Given the description of an element on the screen output the (x, y) to click on. 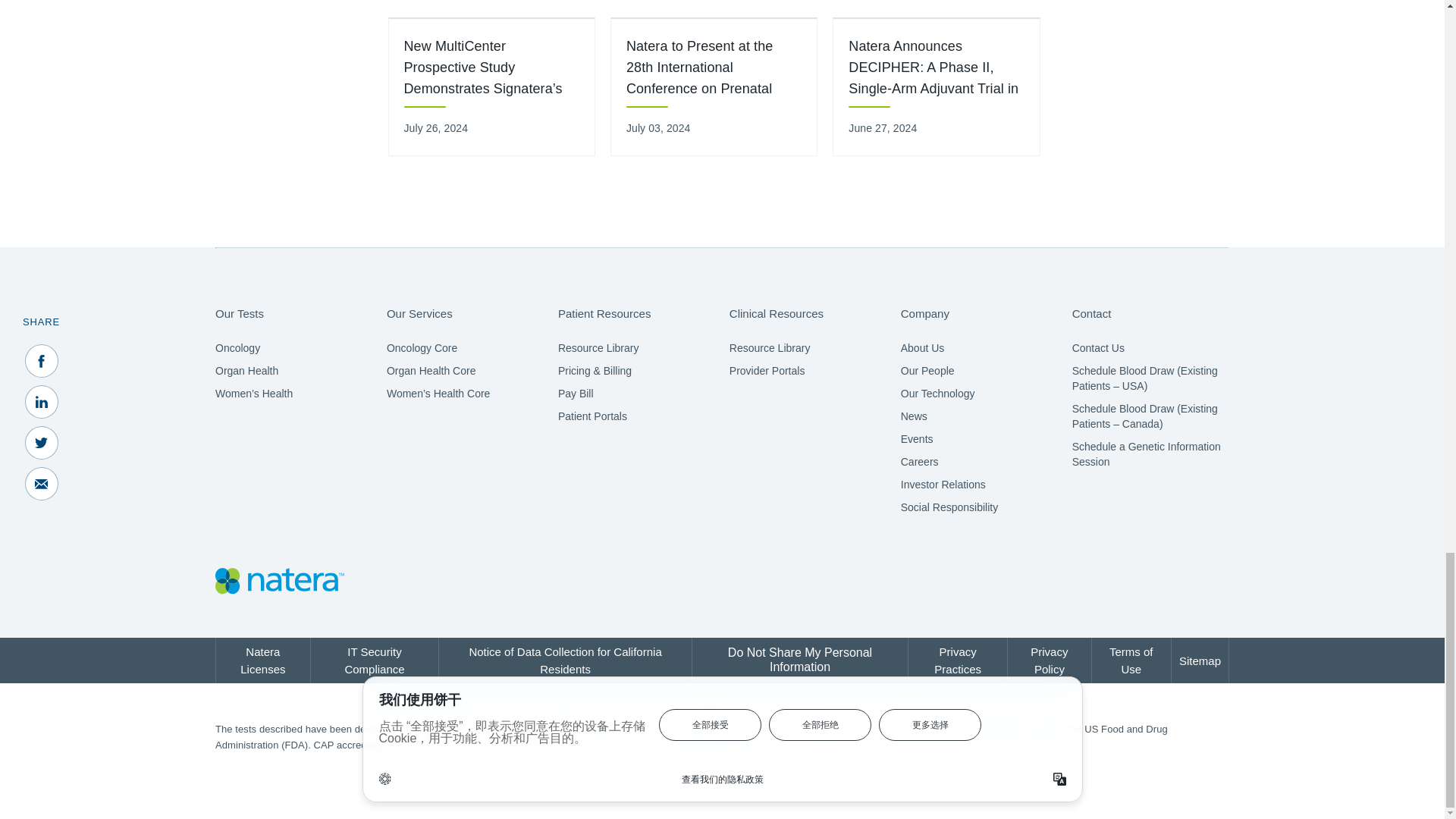
Link to Instagram page (1211, 581)
Link to Facebook page (1079, 581)
Link to LinkedIn page (1123, 581)
Link to Twitter page (1168, 581)
